Given the description of an element on the screen output the (x, y) to click on. 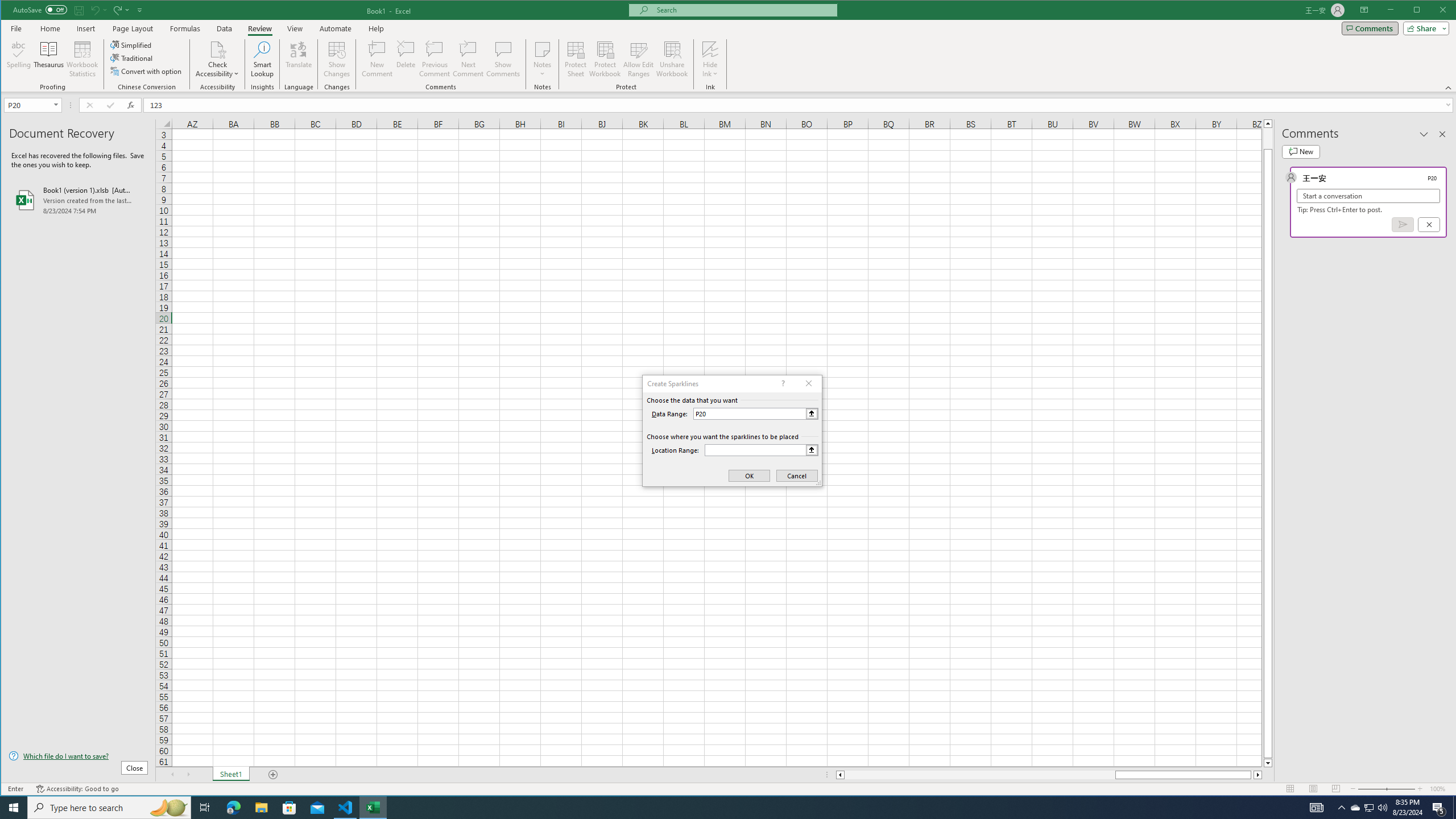
Post comment (Ctrl + Enter) (1402, 224)
Traditional (132, 57)
Previous Comment (434, 59)
Start a conversation (1368, 195)
Show Comments (502, 59)
